Given the description of an element on the screen output the (x, y) to click on. 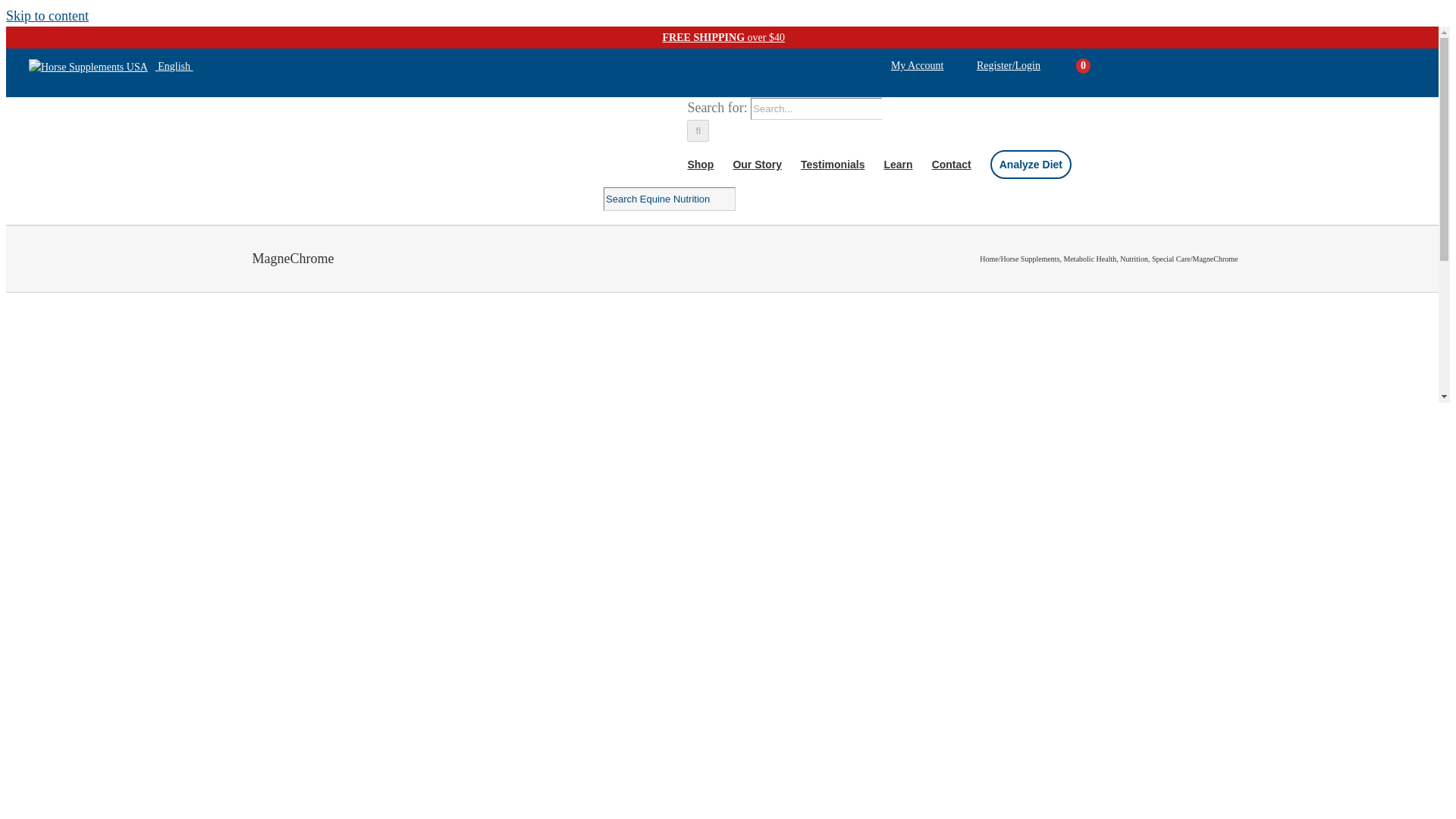
Skip to content (46, 15)
View your shopping cart (1082, 66)
View your shopping cart (1066, 66)
0 (1082, 66)
My Account (917, 65)
Testimonials (832, 164)
Our Story (756, 164)
English (111, 66)
